Given the description of an element on the screen output the (x, y) to click on. 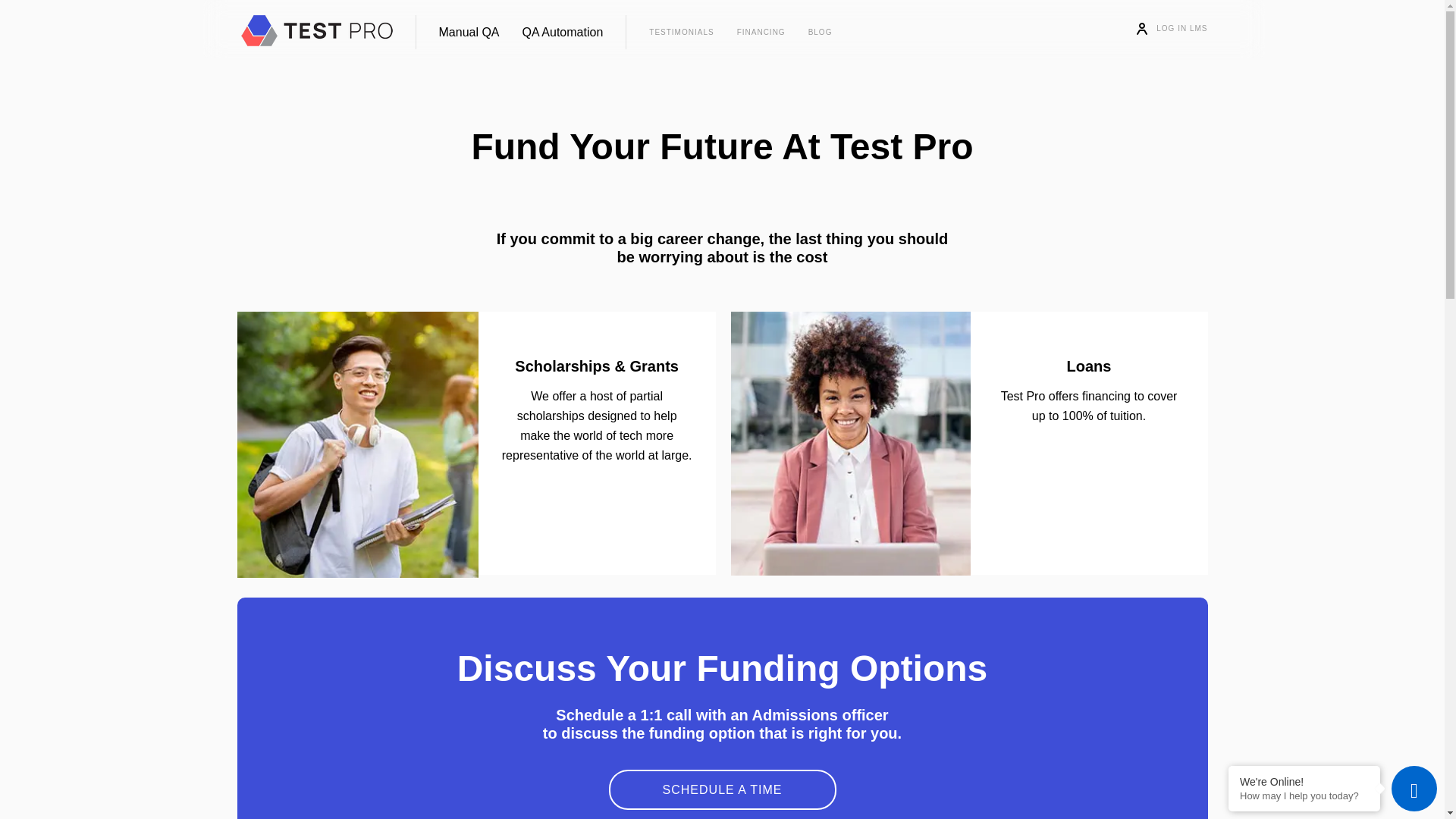
TESTIMONIALS (681, 31)
Manual QA (468, 31)
QA Automation (563, 31)
FINANCING (761, 31)
How may I help you today? (1304, 795)
We're Online! (1304, 781)
LOG IN LMS (1174, 29)
BLOG (820, 31)
